Given the description of an element on the screen output the (x, y) to click on. 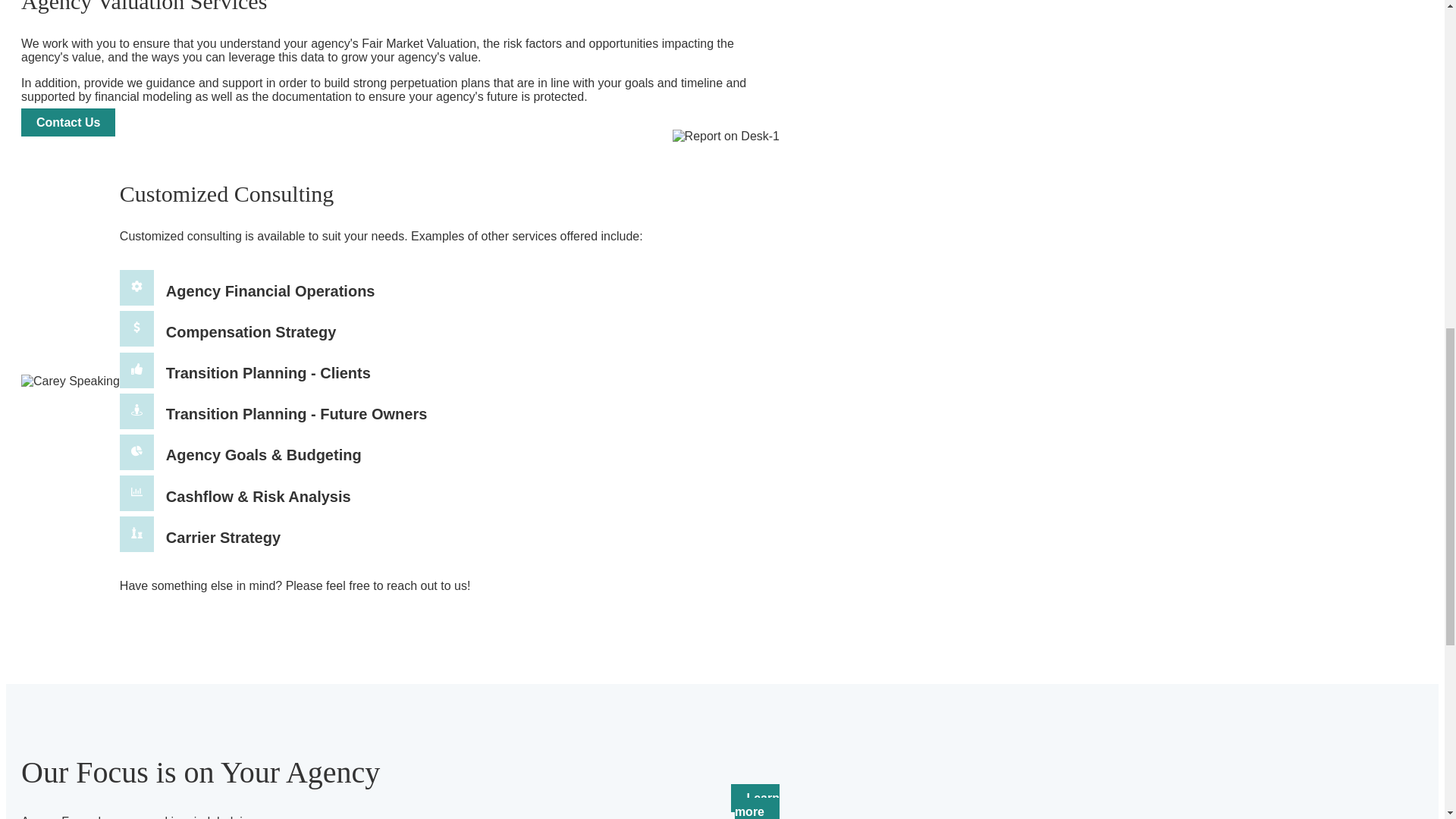
Carey Speaking (70, 381)
Contact Us (68, 122)
Report on Desk-1 (725, 136)
Learn more (754, 801)
